Given the description of an element on the screen output the (x, y) to click on. 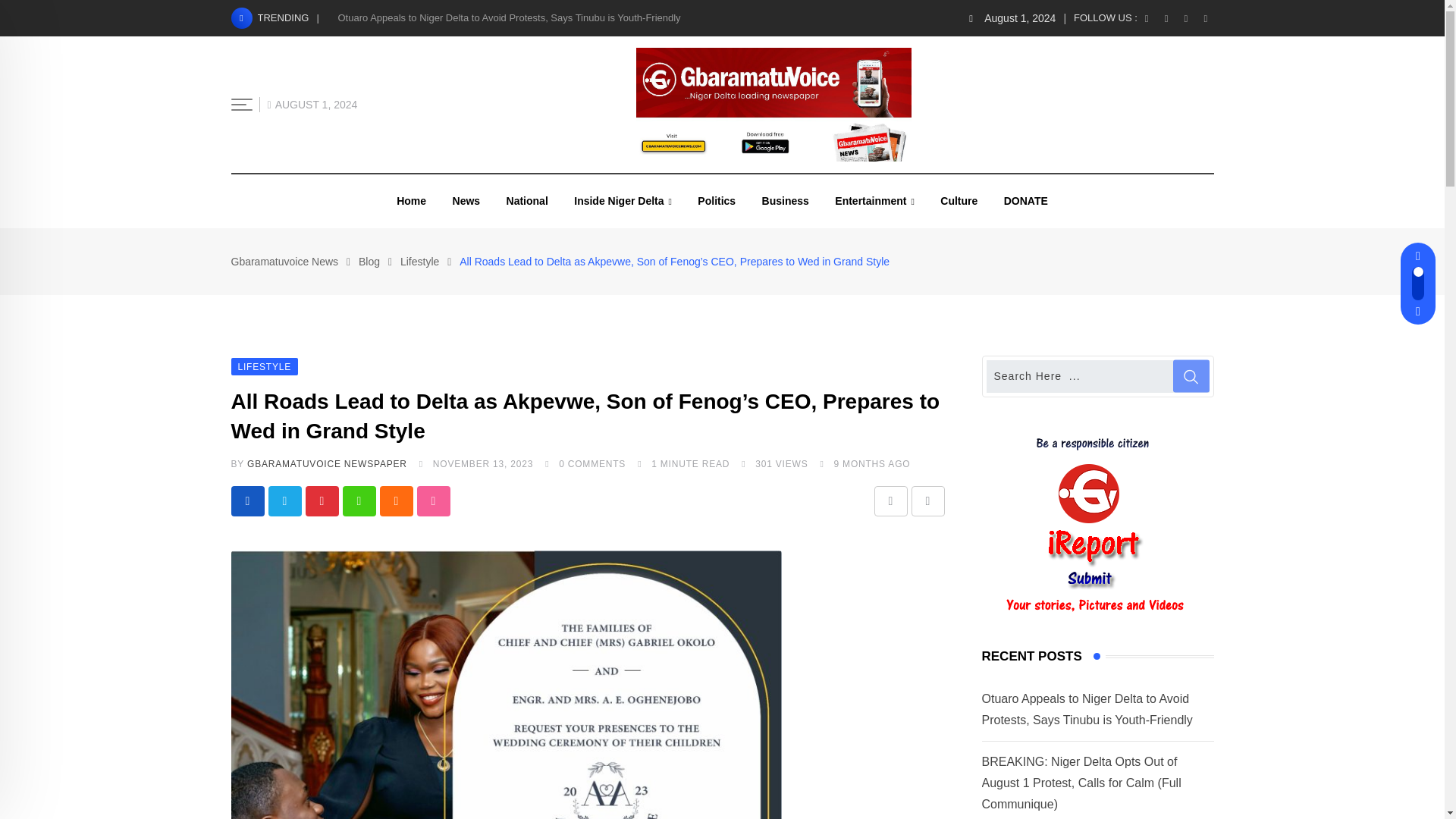
Go to the Lifestyle Category archives. (419, 261)
Entertainment (875, 201)
News (466, 200)
Home (411, 200)
National (527, 200)
Business (786, 200)
Inside Niger Delta (622, 201)
Go to Blog. (369, 261)
Go to Gbaramatuvoice News. (283, 261)
Posts by GbaramatuVoice Newspaper (327, 463)
Politics (715, 200)
